Given the description of an element on the screen output the (x, y) to click on. 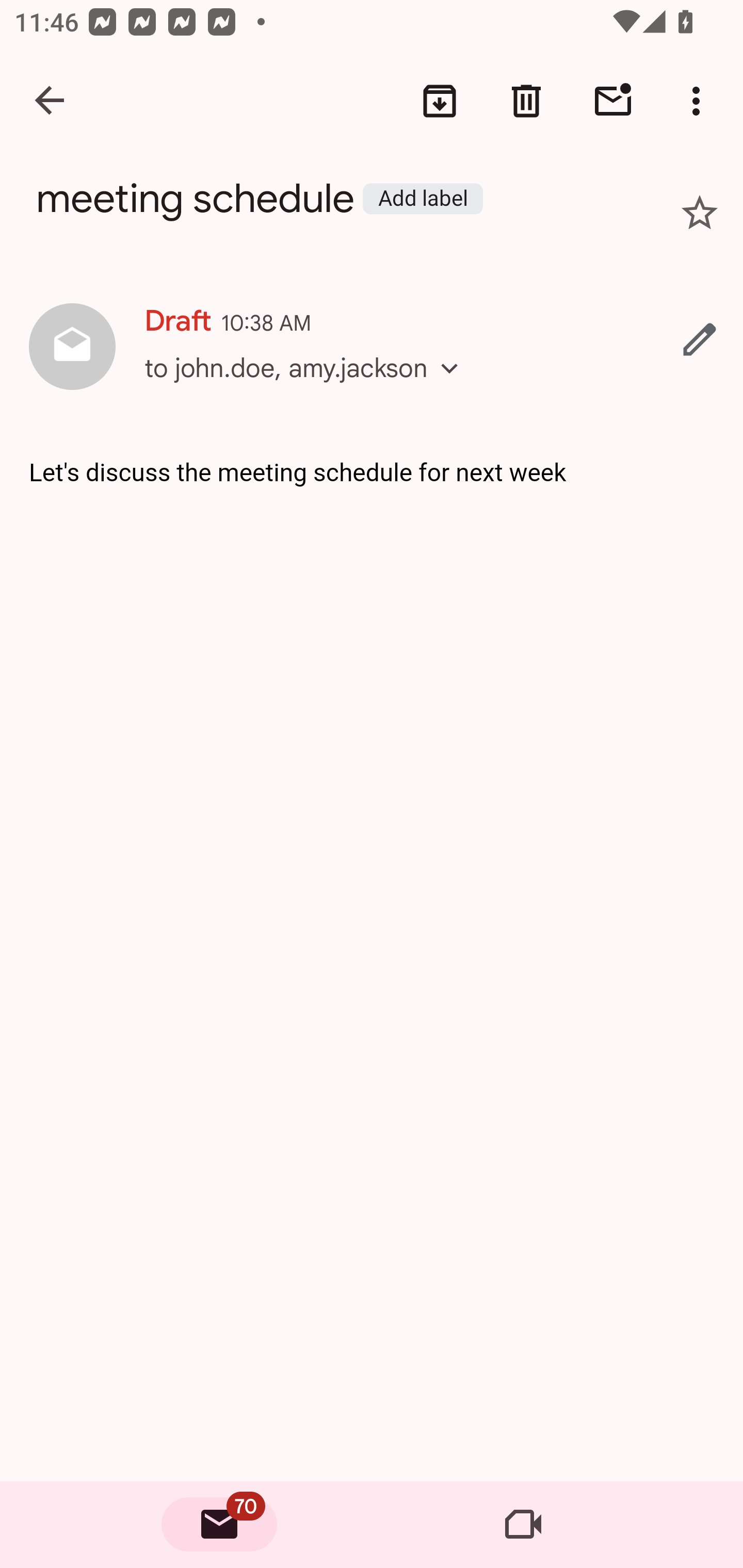
Navigate up (50, 101)
Archive (439, 101)
Discard drafts (525, 101)
Mark unread (612, 101)
More options (699, 101)
Add star (699, 212)
Draft 10:38 AM to john.doe, amy.jackson Edit (371, 347)
Edit (699, 339)
to john.doe, amy.jackson (307, 386)
Meet (523, 1524)
